Given the description of an element on the screen output the (x, y) to click on. 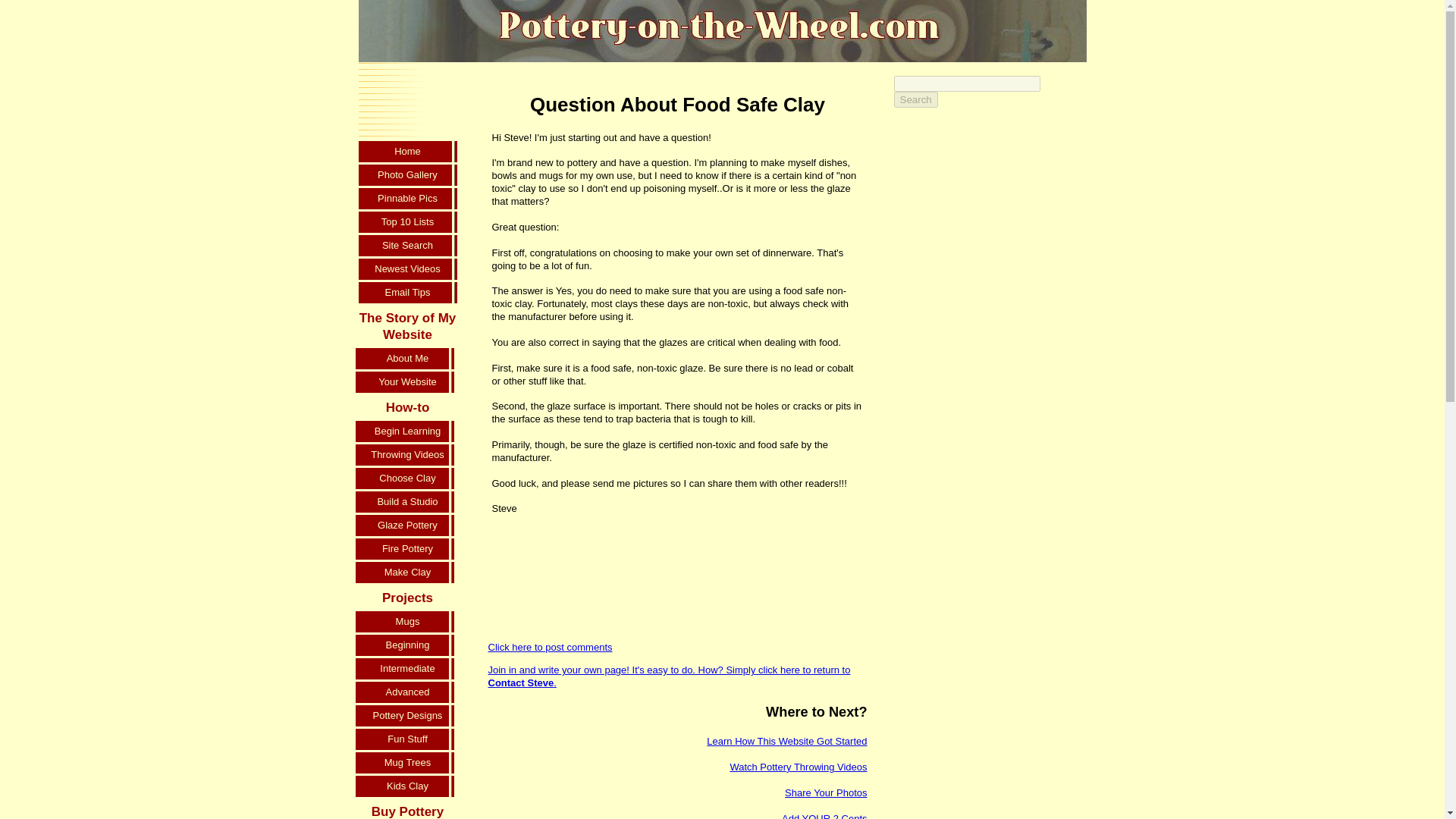
Top 10 Lists (407, 223)
About Me (407, 359)
Search (915, 99)
Mugs (407, 622)
Add YOUR 2 Cents (823, 816)
Watch Pottery Throwing Videos (797, 767)
Kids Clay (407, 787)
Fun Stuff (407, 740)
Fire Pottery (407, 549)
Begin Learning (407, 432)
